Given the description of an element on the screen output the (x, y) to click on. 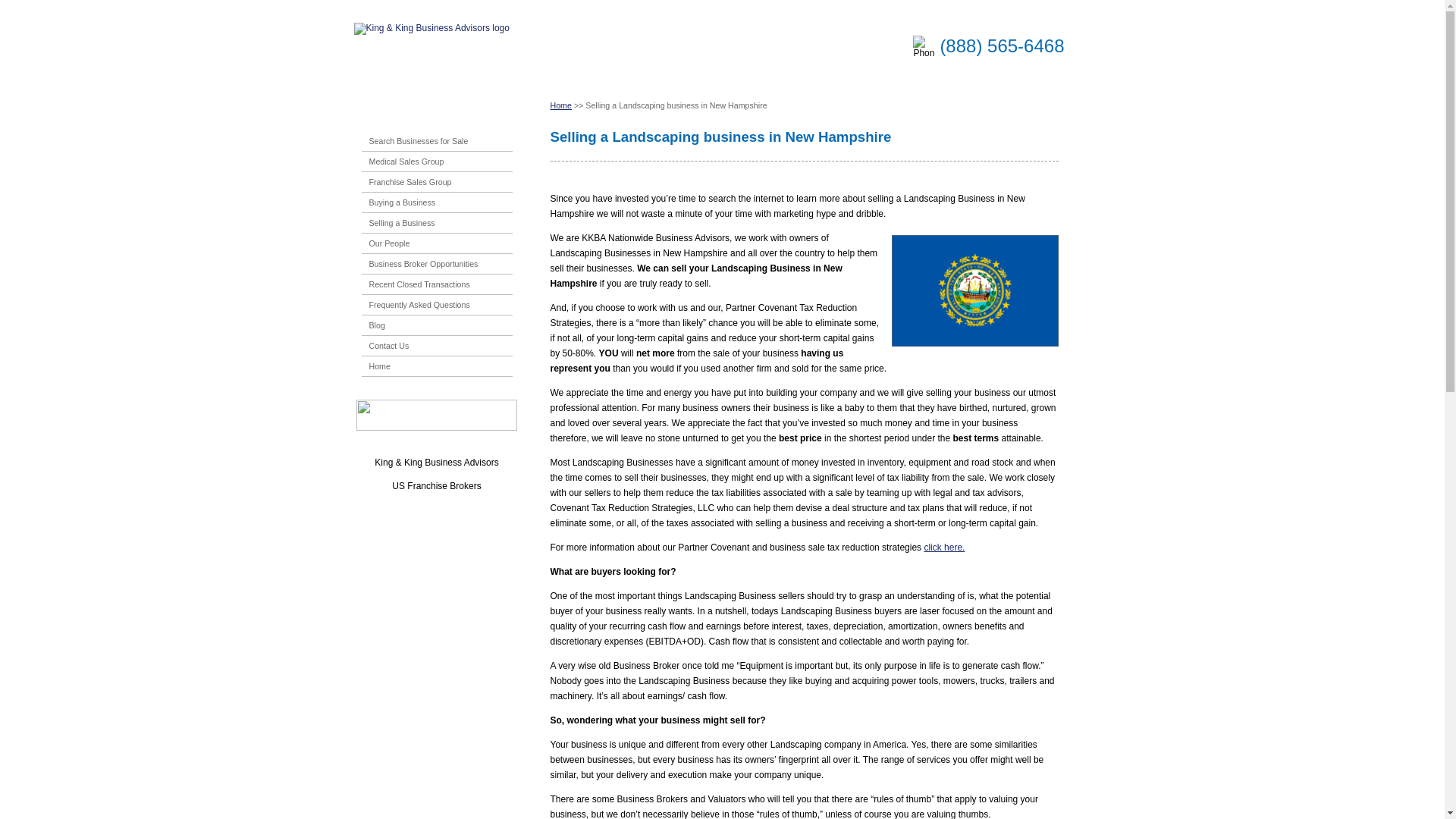
Selling a Business (397, 222)
Go to King and King LLC. (561, 104)
Buying a Business (398, 202)
Our People (385, 243)
Business Broker Opportunities (419, 263)
Search Businesses for Sale (414, 140)
Franchise Sales Group (406, 181)
Medical Sales Group (402, 161)
